Given the description of an element on the screen output the (x, y) to click on. 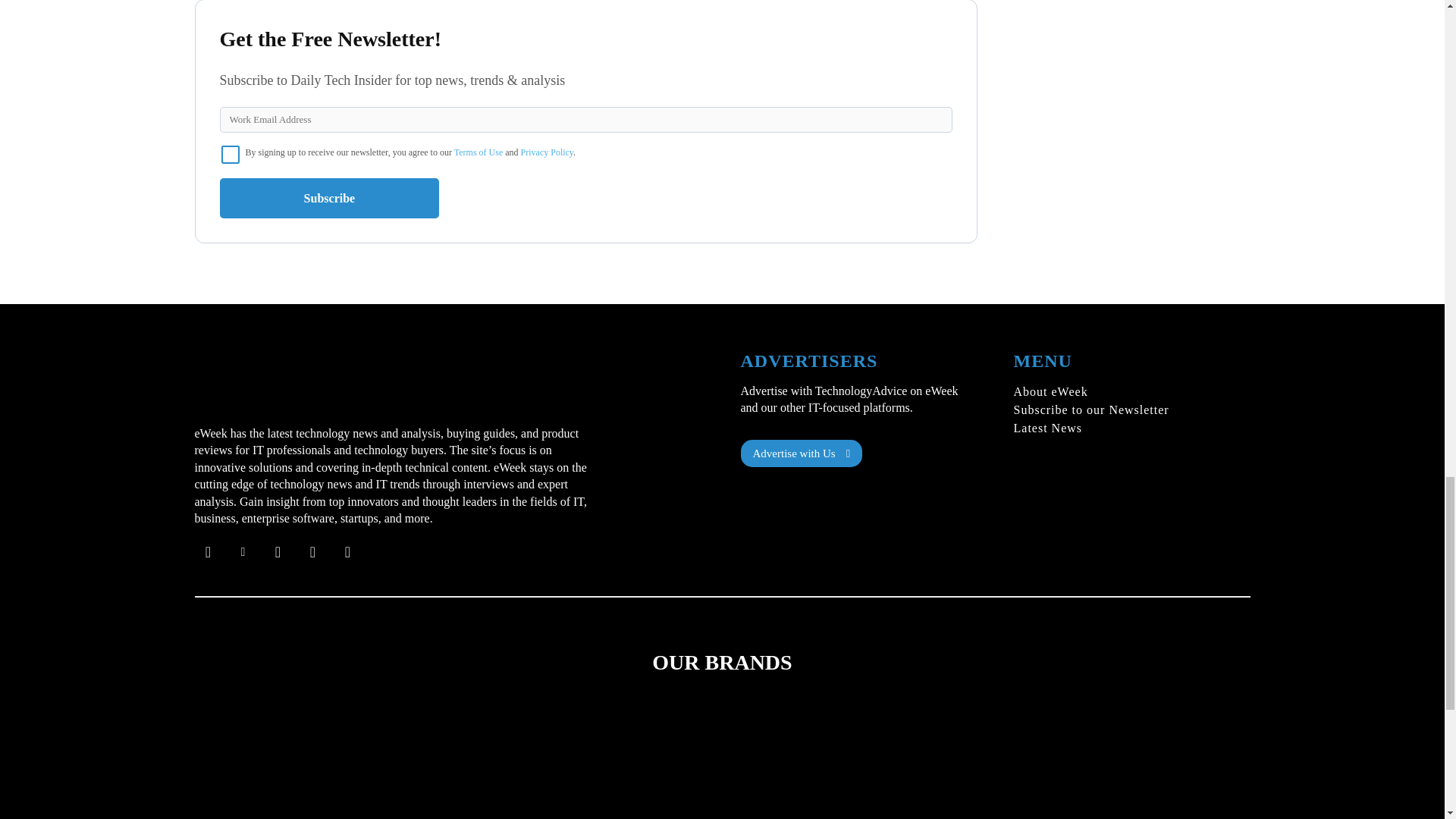
on (230, 154)
